Given the description of an element on the screen output the (x, y) to click on. 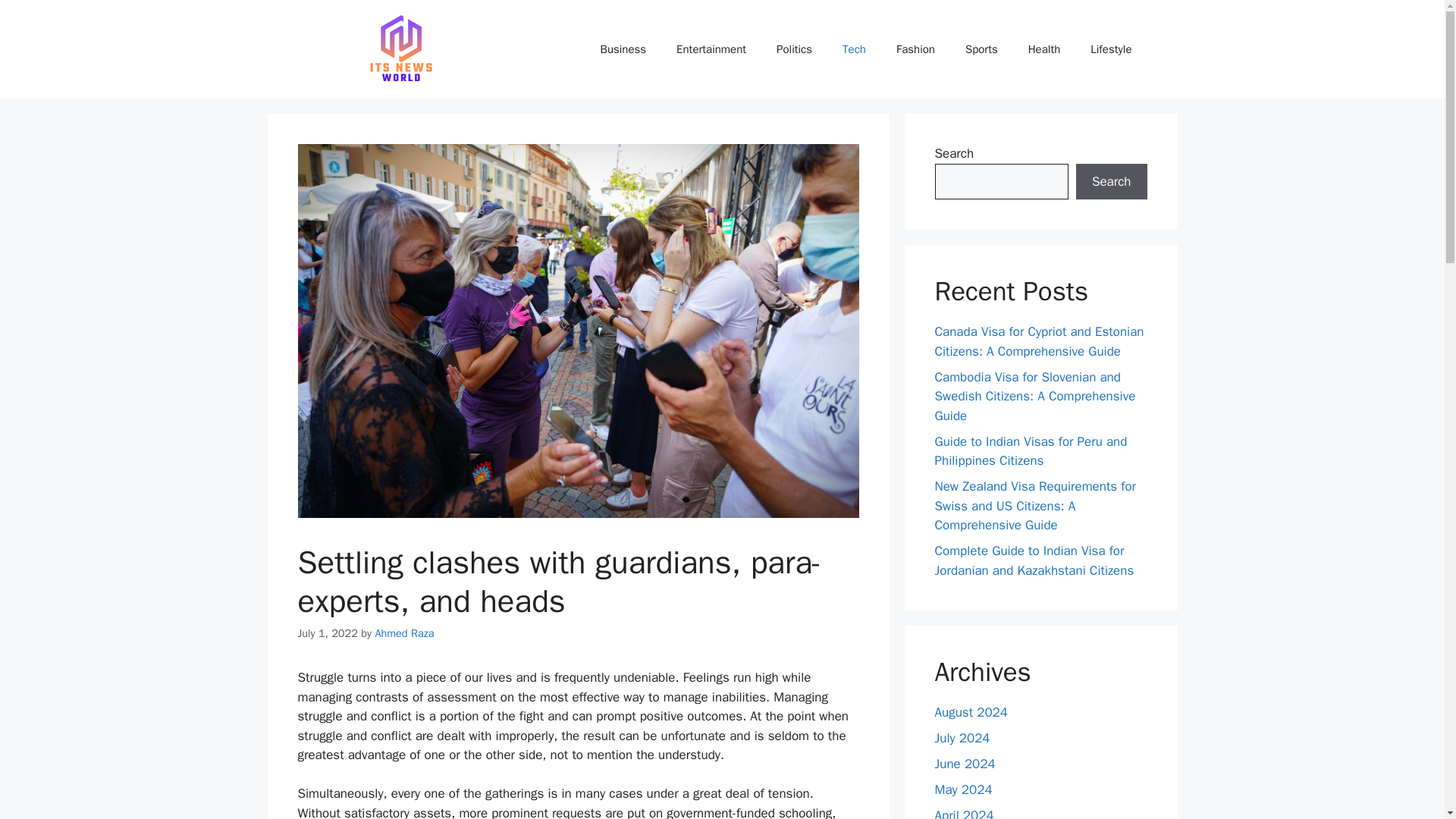
August 2024 (970, 712)
July 2024 (962, 738)
April 2024 (963, 813)
Fashion (915, 49)
June 2024 (964, 763)
Ahmed Raza (403, 632)
Sports (981, 49)
Tech (853, 49)
View all posts by Ahmed Raza (403, 632)
